Given the description of an element on the screen output the (x, y) to click on. 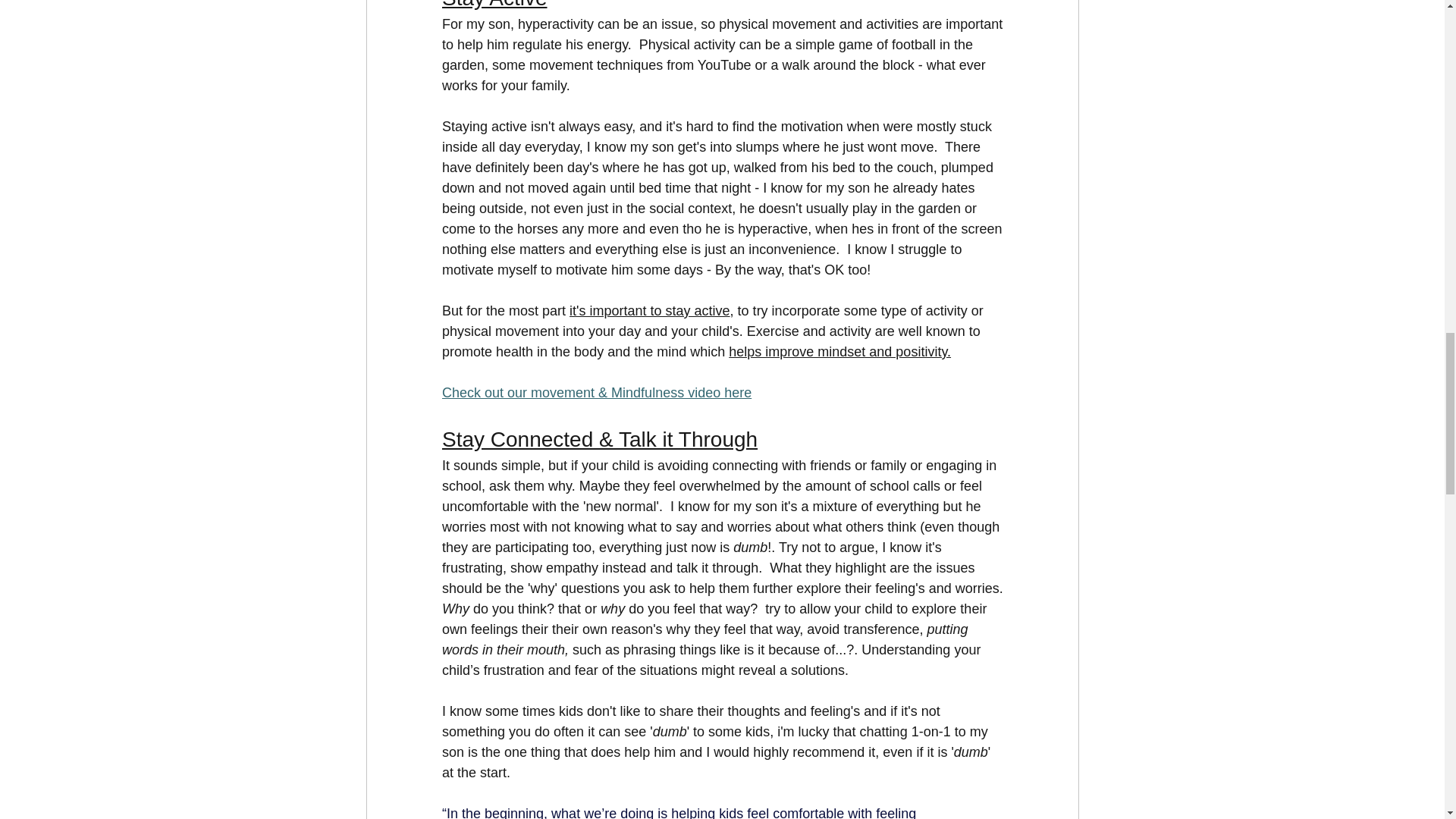
talk  (689, 567)
